Given the description of an element on the screen output the (x, y) to click on. 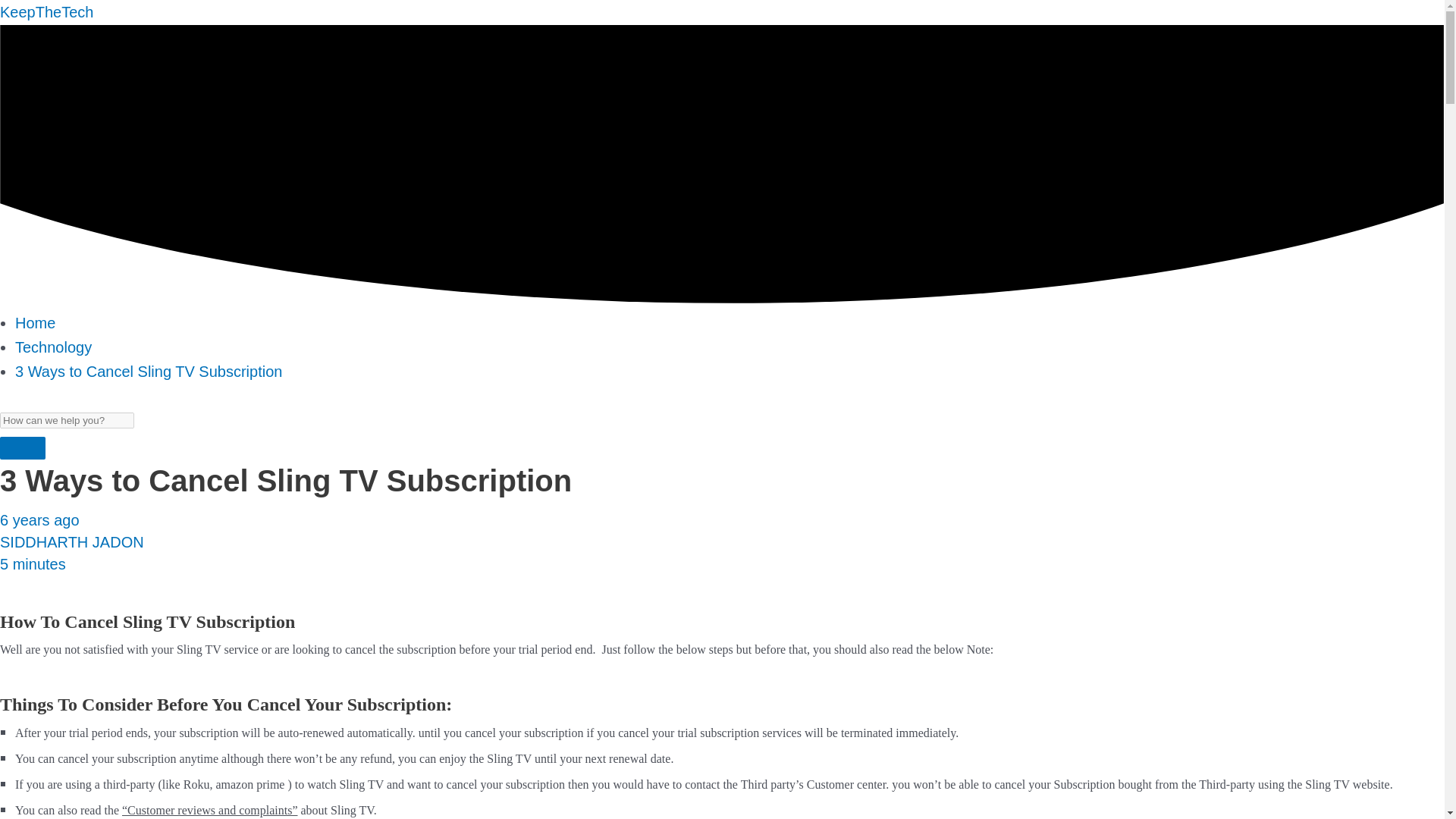
KeepTheTech (46, 12)
KeepTheTech (46, 12)
Home (34, 322)
3 Ways to Cancel Sling TV Subscription (148, 371)
Technology (52, 347)
SIDDHARTH JADON (72, 541)
